Given the description of an element on the screen output the (x, y) to click on. 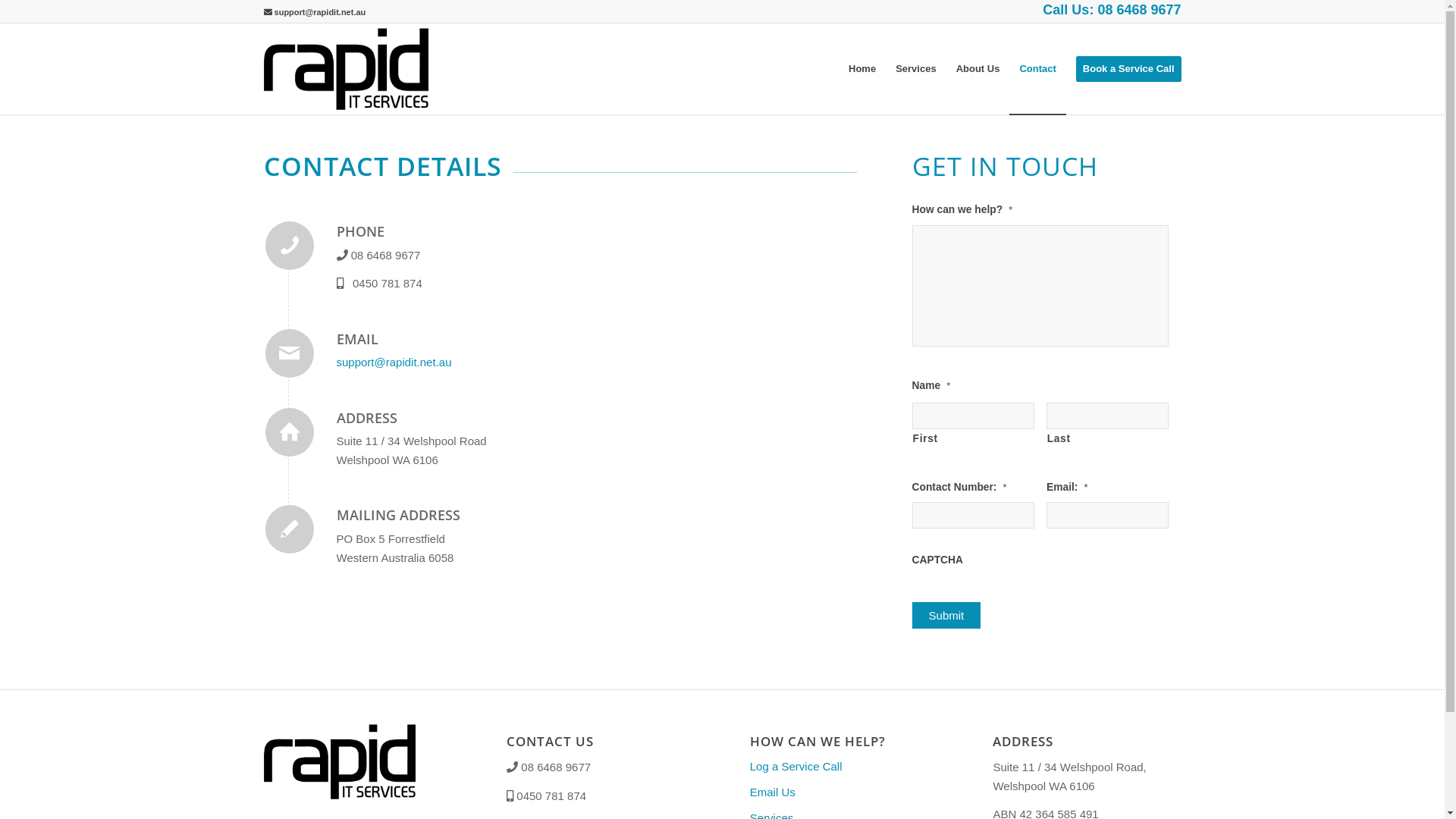
Contact Element type: text (1037, 68)
Home Element type: text (861, 68)
Submit Element type: text (946, 615)
About Us Element type: text (978, 68)
Services Element type: text (915, 68)
support@rapidit.net.au Element type: text (314, 11)
Book a Service Call Element type: text (1123, 68)
support@rapidit.net.au Element type: text (393, 361)
Call Us: 08 6468 9677 Element type: text (1111, 9)
Email Us Element type: text (843, 793)
Log a Service Call Element type: text (843, 767)
